Given the description of an element on the screen output the (x, y) to click on. 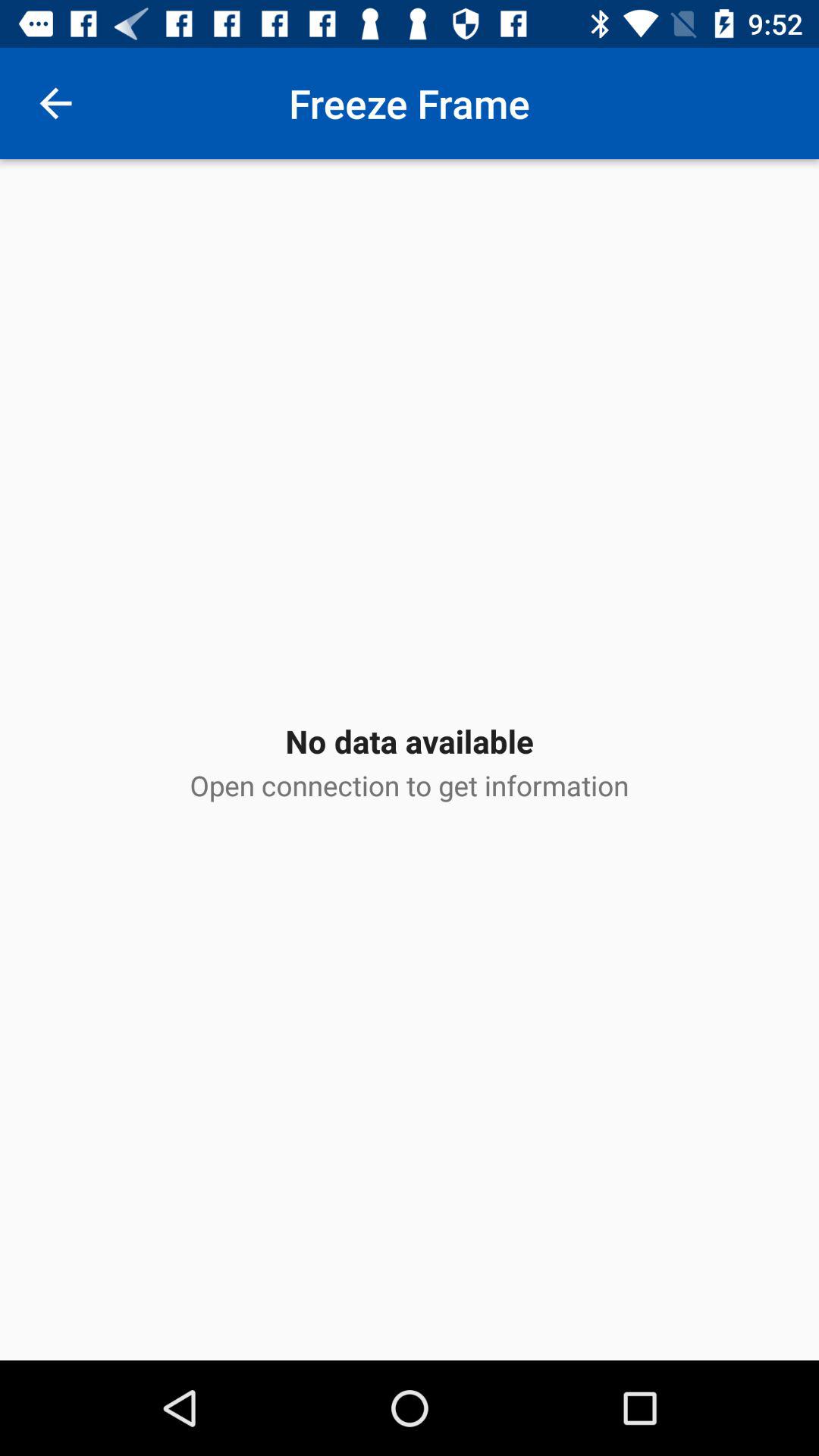
launch icon at the top left corner (55, 103)
